Given the description of an element on the screen output the (x, y) to click on. 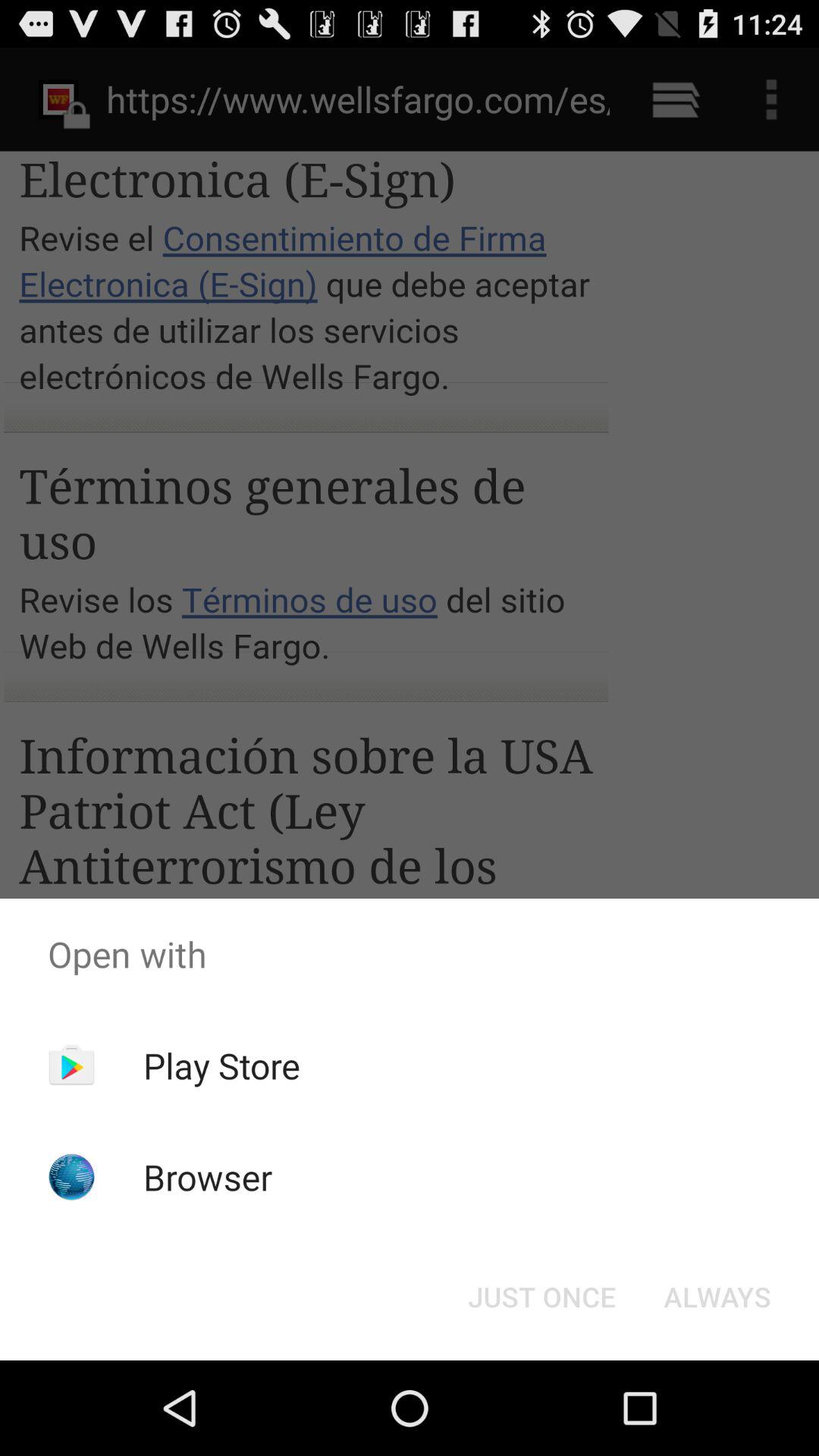
choose the just once item (541, 1296)
